Given the description of an element on the screen output the (x, y) to click on. 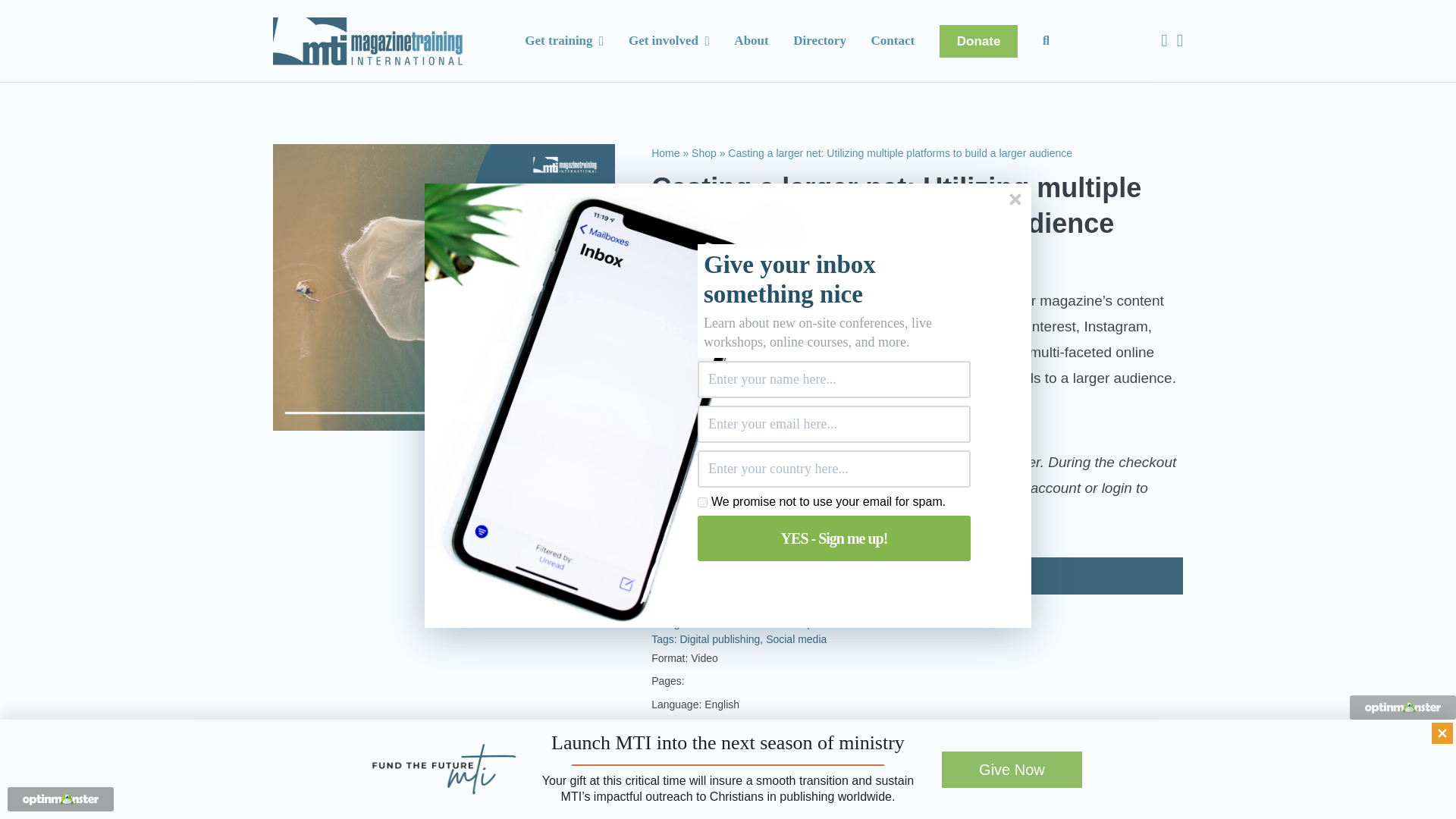
Donate (978, 40)
on (702, 501)
Get training (564, 41)
Contact (892, 41)
Get involved (669, 41)
About (750, 41)
Directory (819, 41)
